Given the description of an element on the screen output the (x, y) to click on. 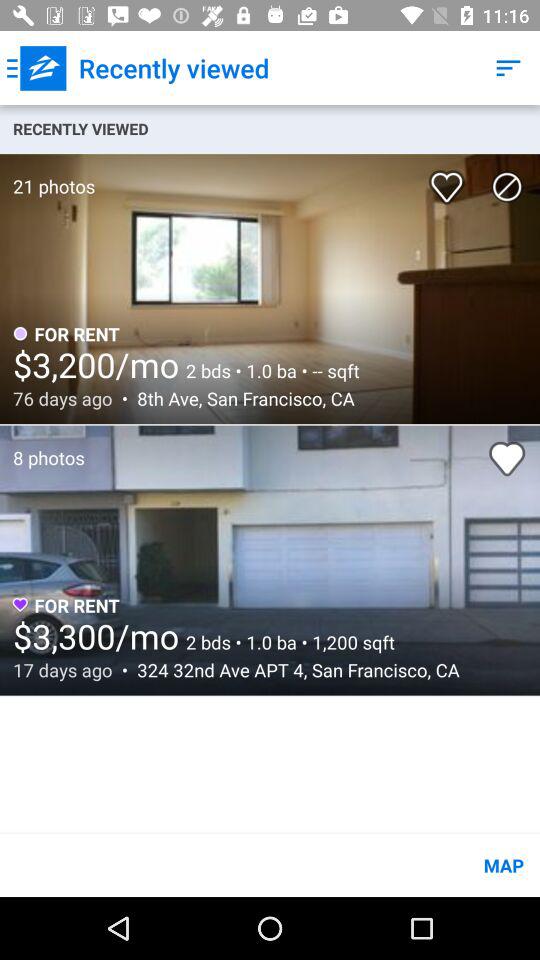
turn off the item below recently viewed icon (450, 180)
